Given the description of an element on the screen output the (x, y) to click on. 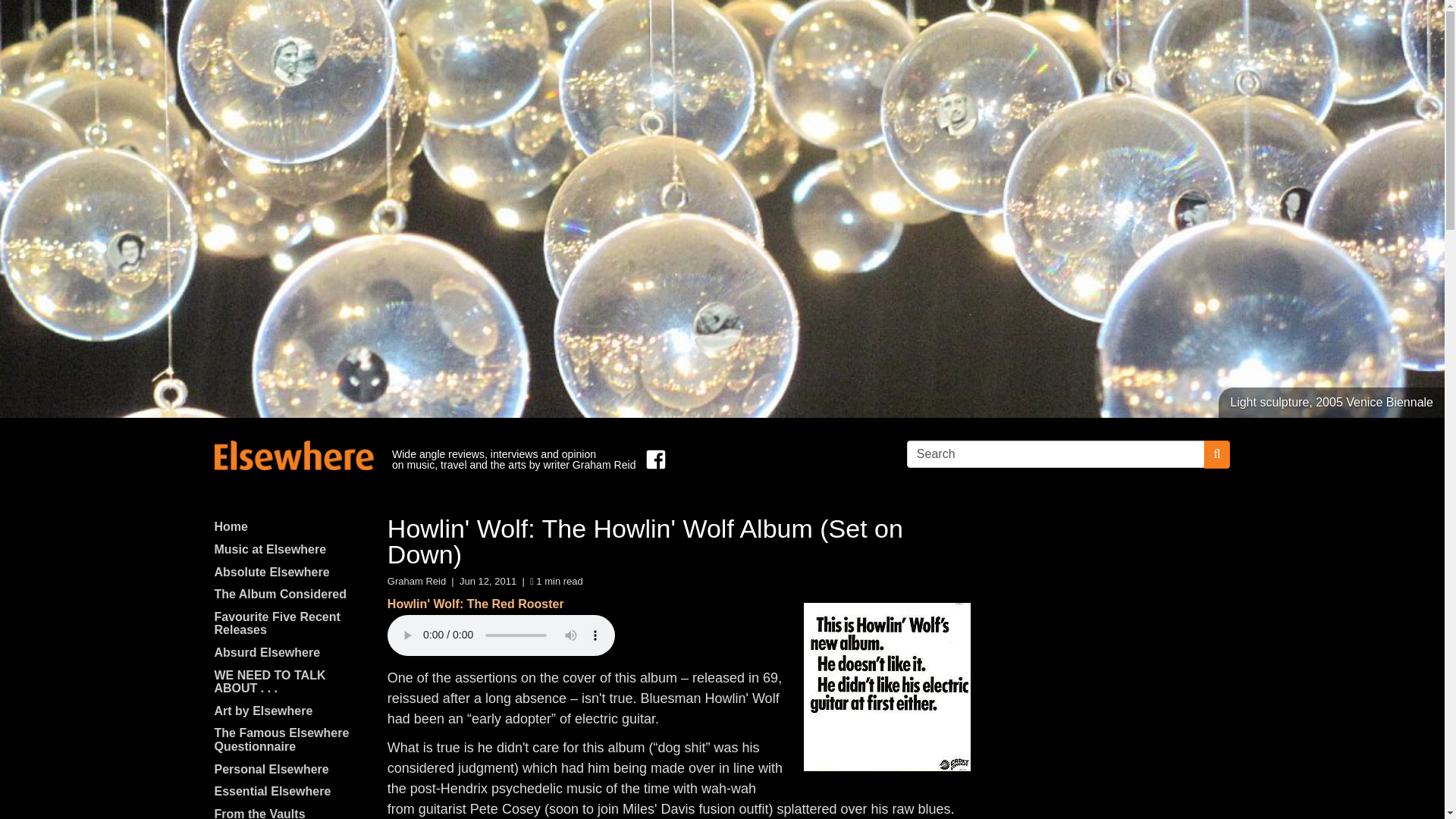
Find us on Facebook (652, 459)
Search (1056, 453)
Search (1056, 453)
Elsewhere by Graham Reid (293, 455)
